Given the description of an element on the screen output the (x, y) to click on. 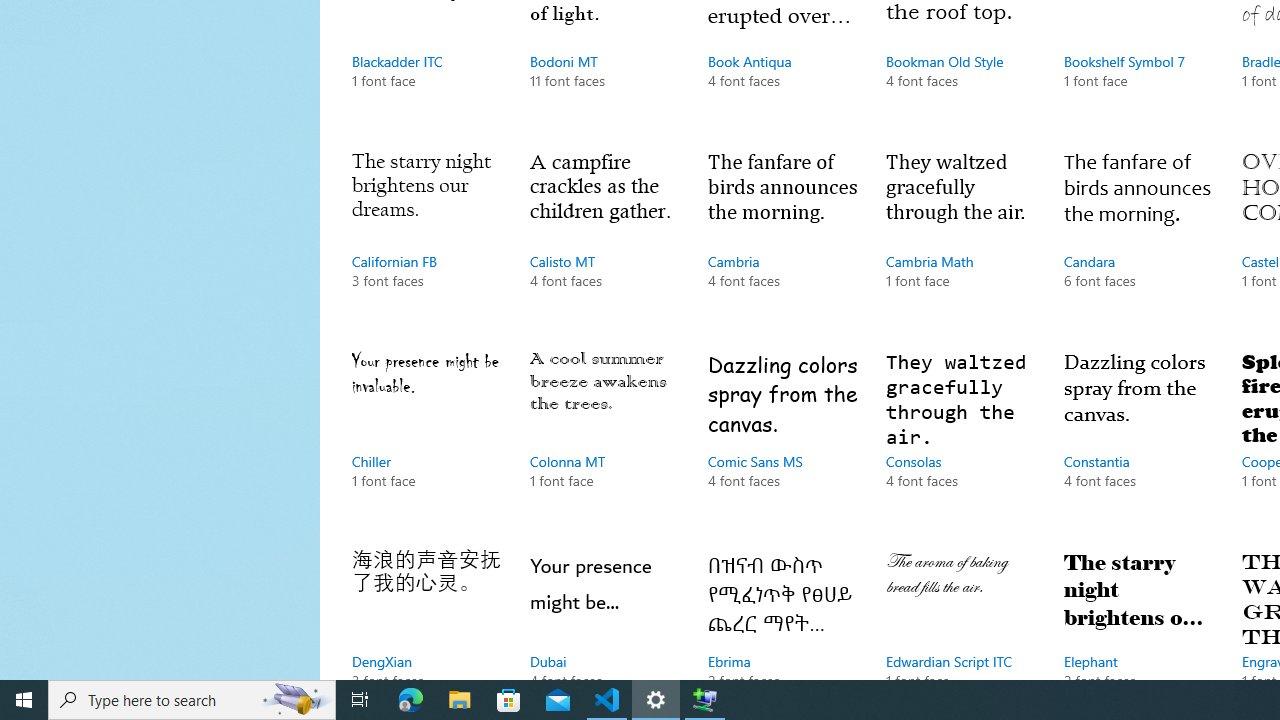
Comic Sans MS, 4 font faces (783, 439)
Settings - 1 running window (656, 699)
Edwardian Script ITC, 1 font face (961, 609)
Candara, 6 font faces (1138, 239)
Colonna MT, 1 font face (604, 439)
Elephant, 2 font faces (1138, 609)
Calisto MT, 4 font faces (604, 239)
Chiller, 1 font face (426, 439)
DengXian, 3 font faces (426, 609)
